Given the description of an element on the screen output the (x, y) to click on. 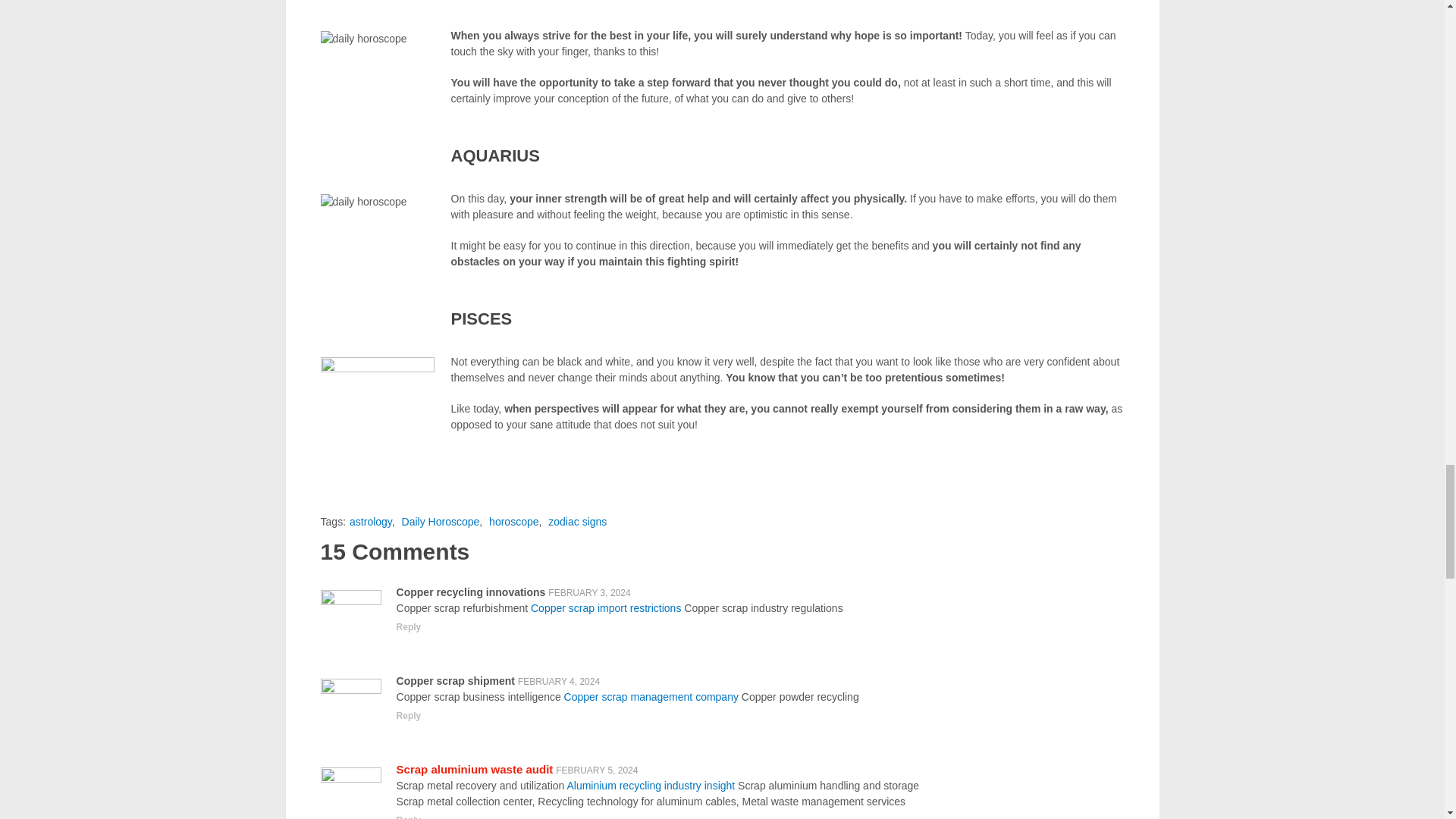
zodiac signs (577, 521)
horoscope (513, 521)
Daily Horoscope (440, 521)
Copper scrap management company (651, 696)
Copper scrap import restrictions (606, 607)
astrology (370, 521)
Copper scrap import restrictions (606, 607)
